Given the description of an element on the screen output the (x, y) to click on. 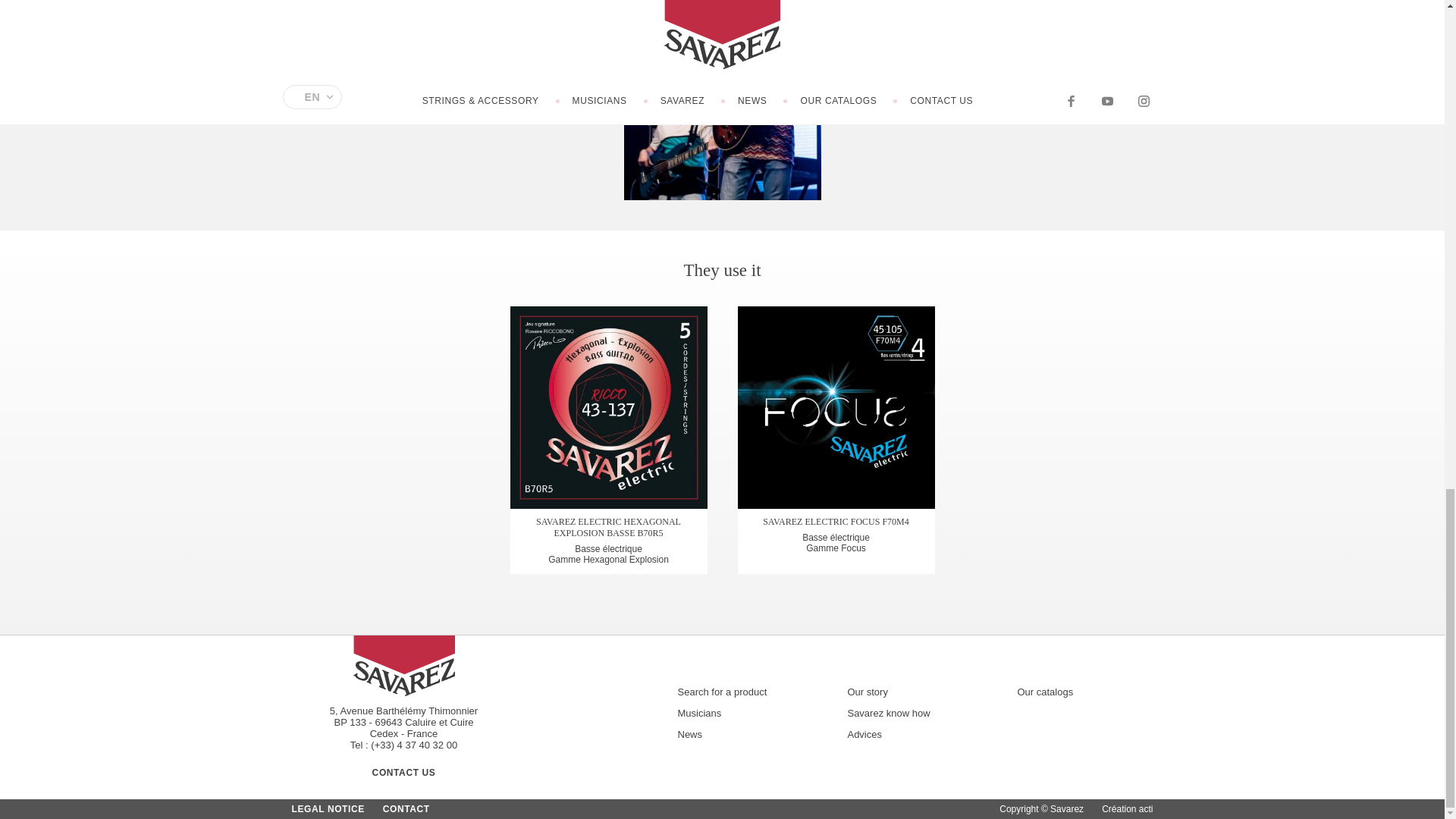
CONTACT US (403, 771)
SAVAREZ ELECTRIC FOCUS F70M4 (835, 407)
SAVAREZ ELECTRIC HEXAGONAL EXPLOSION BASSE B70R5 (607, 407)
News (736, 733)
Musicians (736, 712)
Search for a product (736, 690)
